Given the description of an element on the screen output the (x, y) to click on. 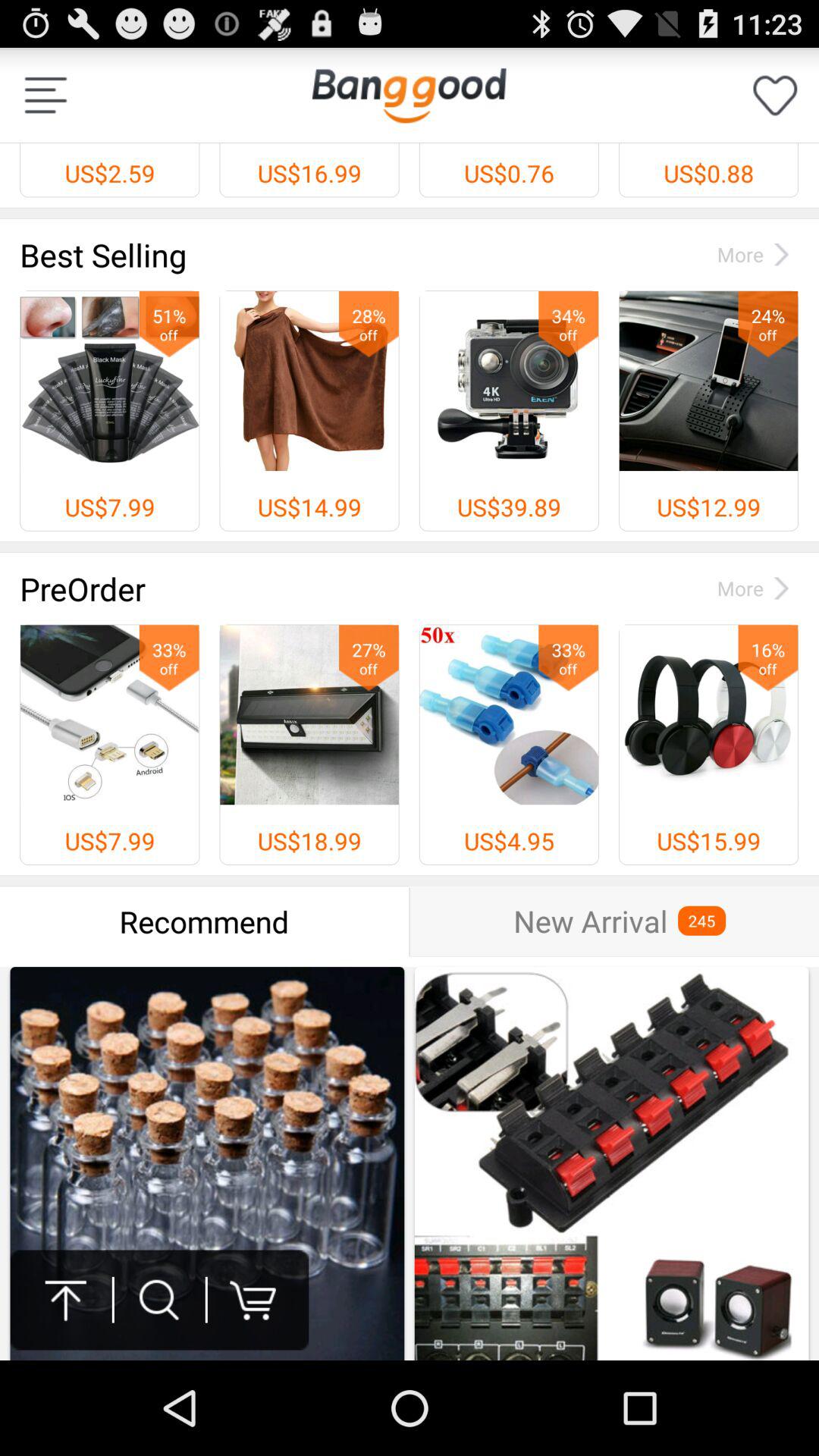
like this page (775, 95)
